Given the description of an element on the screen output the (x, y) to click on. 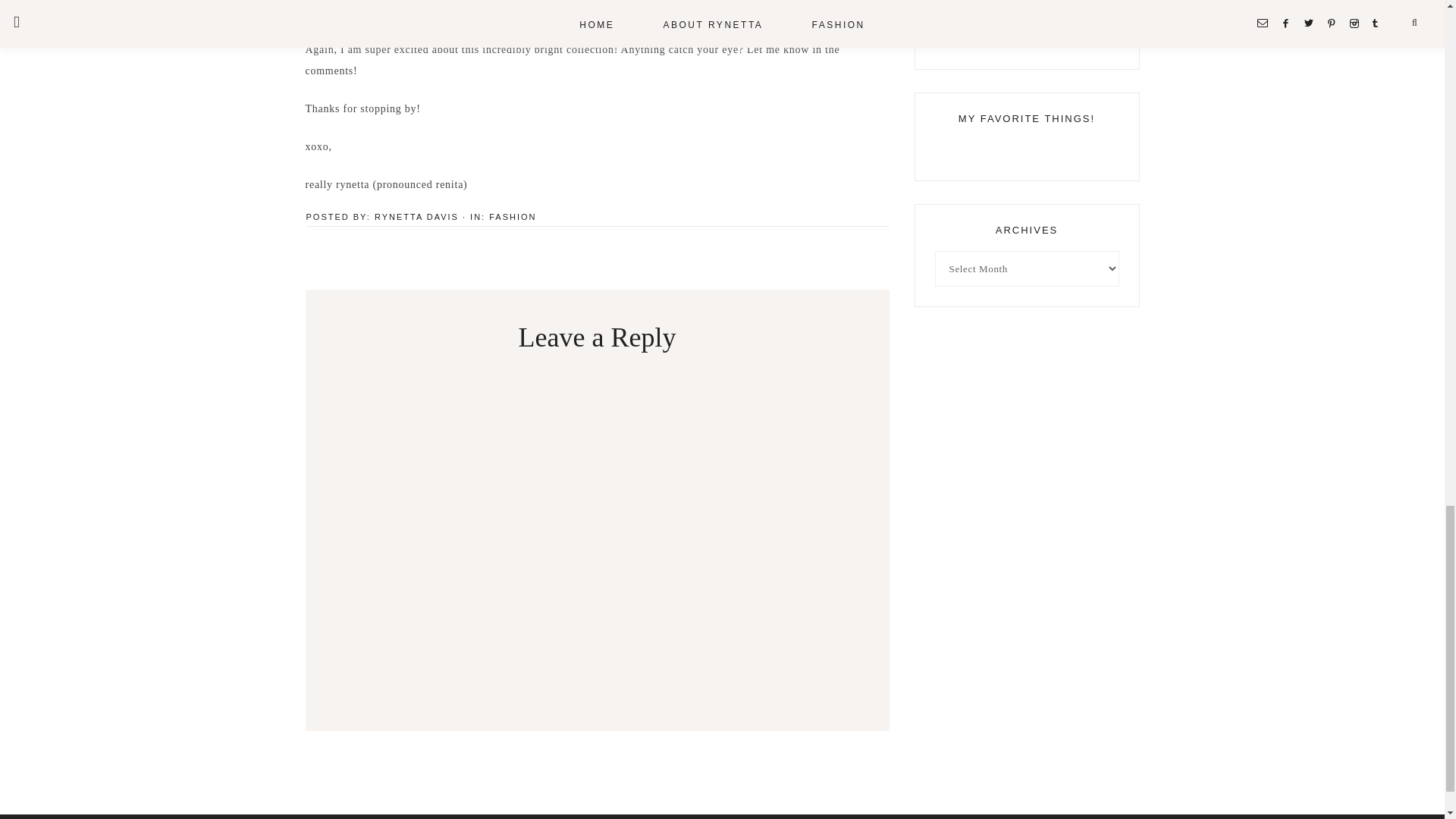
FASHION (512, 216)
RYNETTA DAVIS (416, 216)
